Given the description of an element on the screen output the (x, y) to click on. 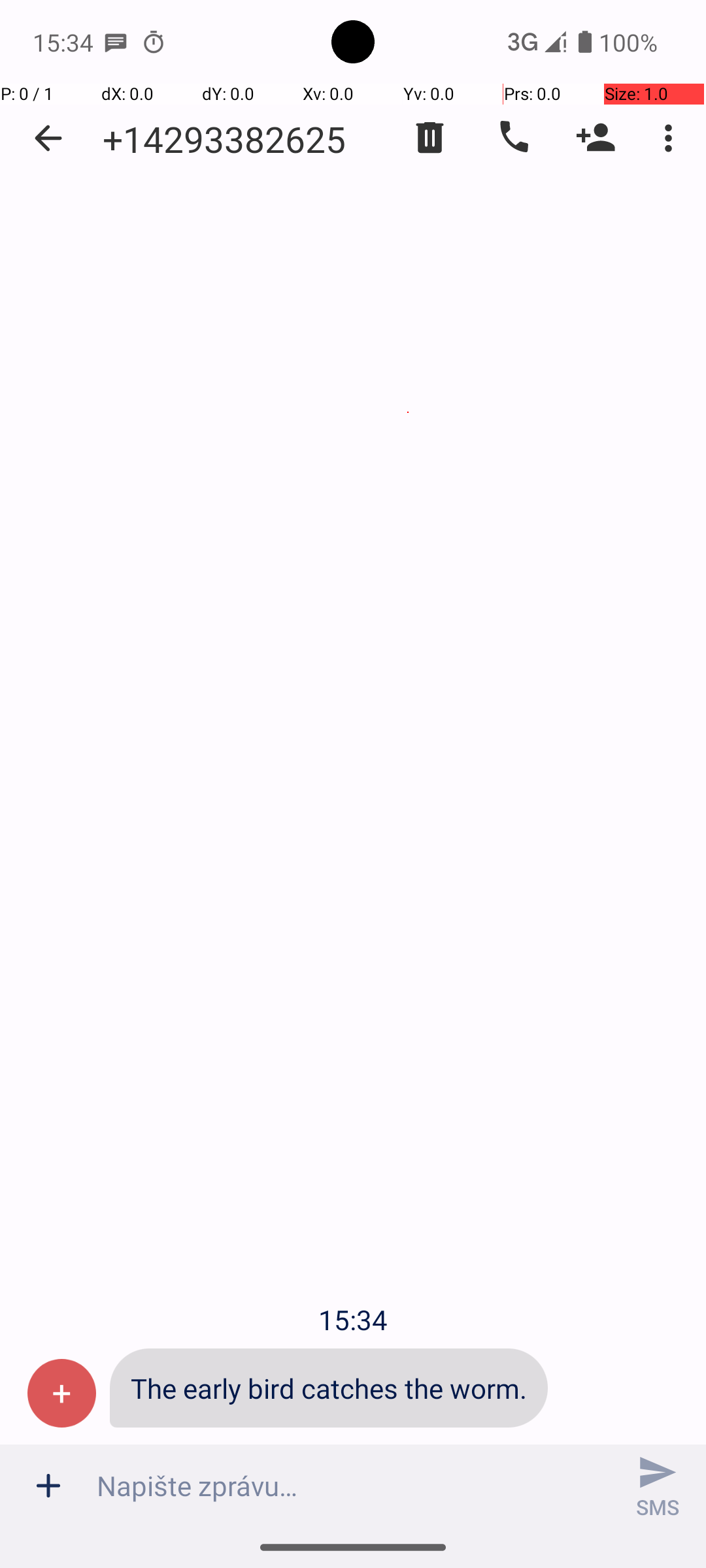
Zpět Element type: android.widget.ImageButton (48, 138)
+14293382625 Element type: android.widget.TextView (223, 138)
Smazat Element type: android.widget.Button (429, 137)
Vytočit číslo Element type: android.widget.Button (512, 137)
Přidat osobu Element type: android.widget.Button (595, 137)
Příloha Element type: android.widget.ImageView (48, 1485)
Napište zprávu… Element type: android.widget.EditText (352, 1485)
The early bird catches the worm. Element type: android.widget.TextView (328, 1387)
